Given the description of an element on the screen output the (x, y) to click on. 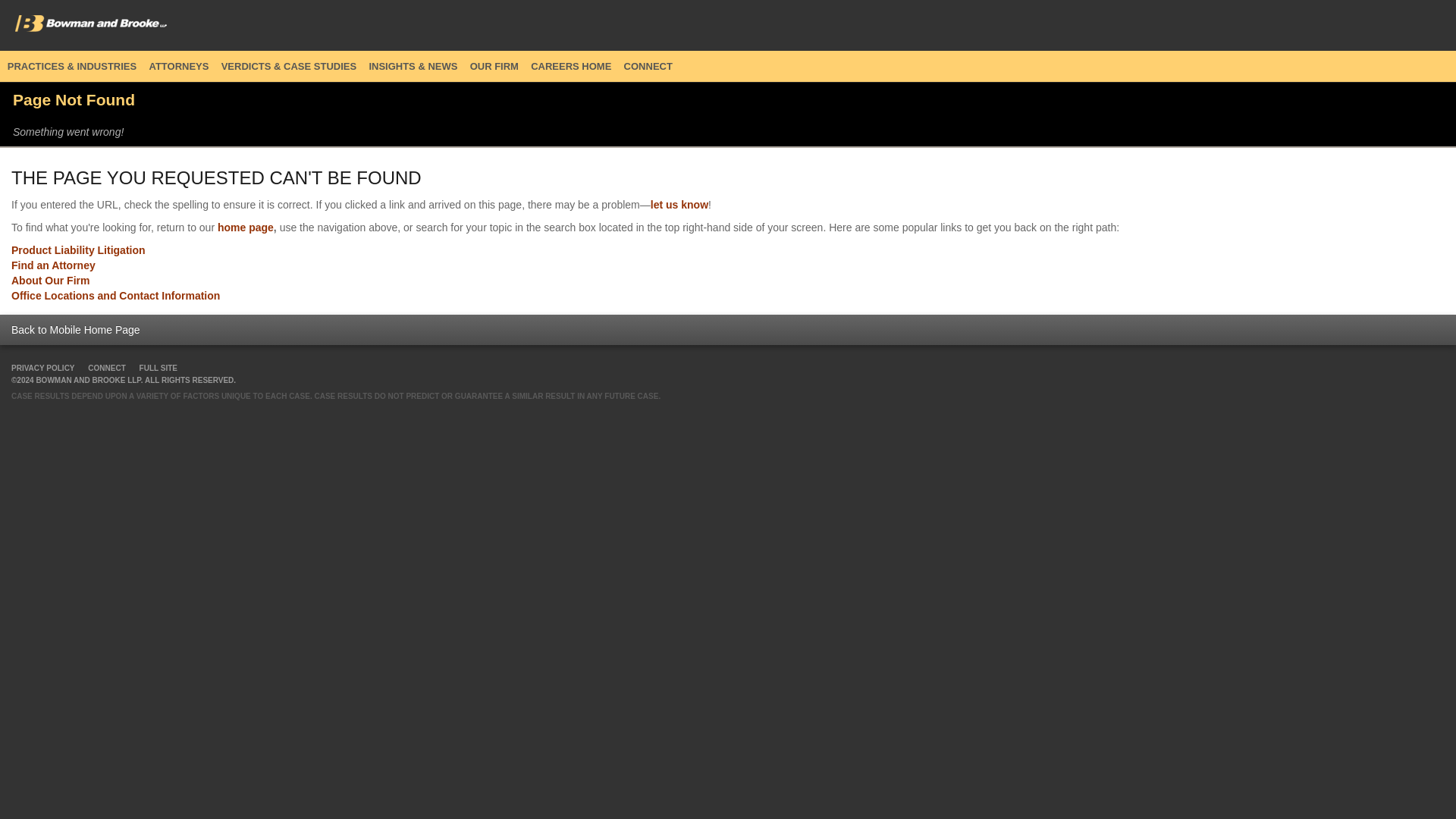
CONNECT (106, 367)
let us know (678, 204)
home page (244, 227)
PRIVACY POLICY (43, 367)
ATTORNEYS (177, 65)
Back to Mobile Home Page (75, 329)
OUR FIRM (493, 65)
CONNECT (646, 65)
CAREERS HOME (568, 65)
About Our Firm (49, 280)
